Given the description of an element on the screen output the (x, y) to click on. 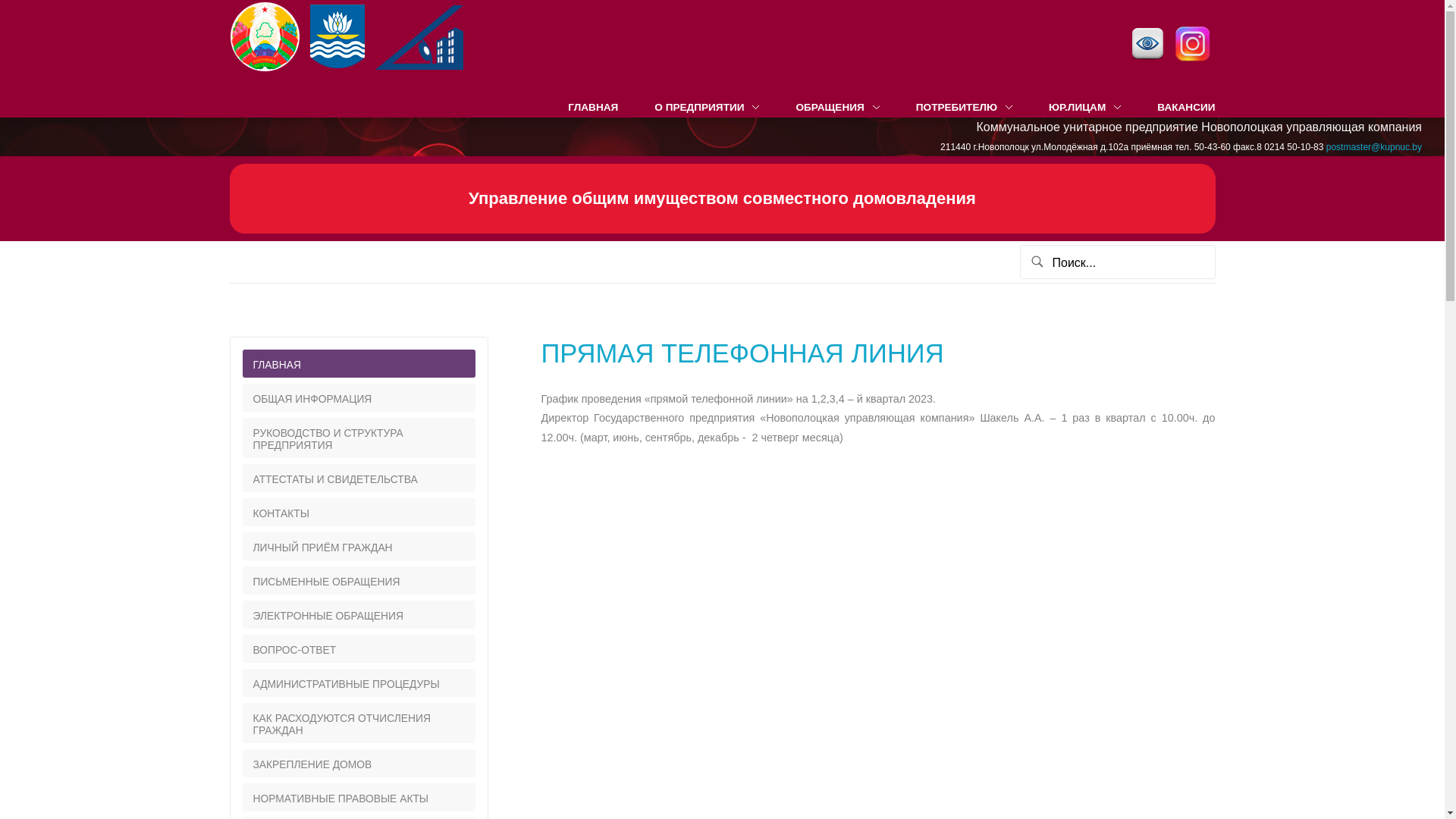
postmaster@kupnuc.by Element type: text (1373, 146)
